Given the description of an element on the screen output the (x, y) to click on. 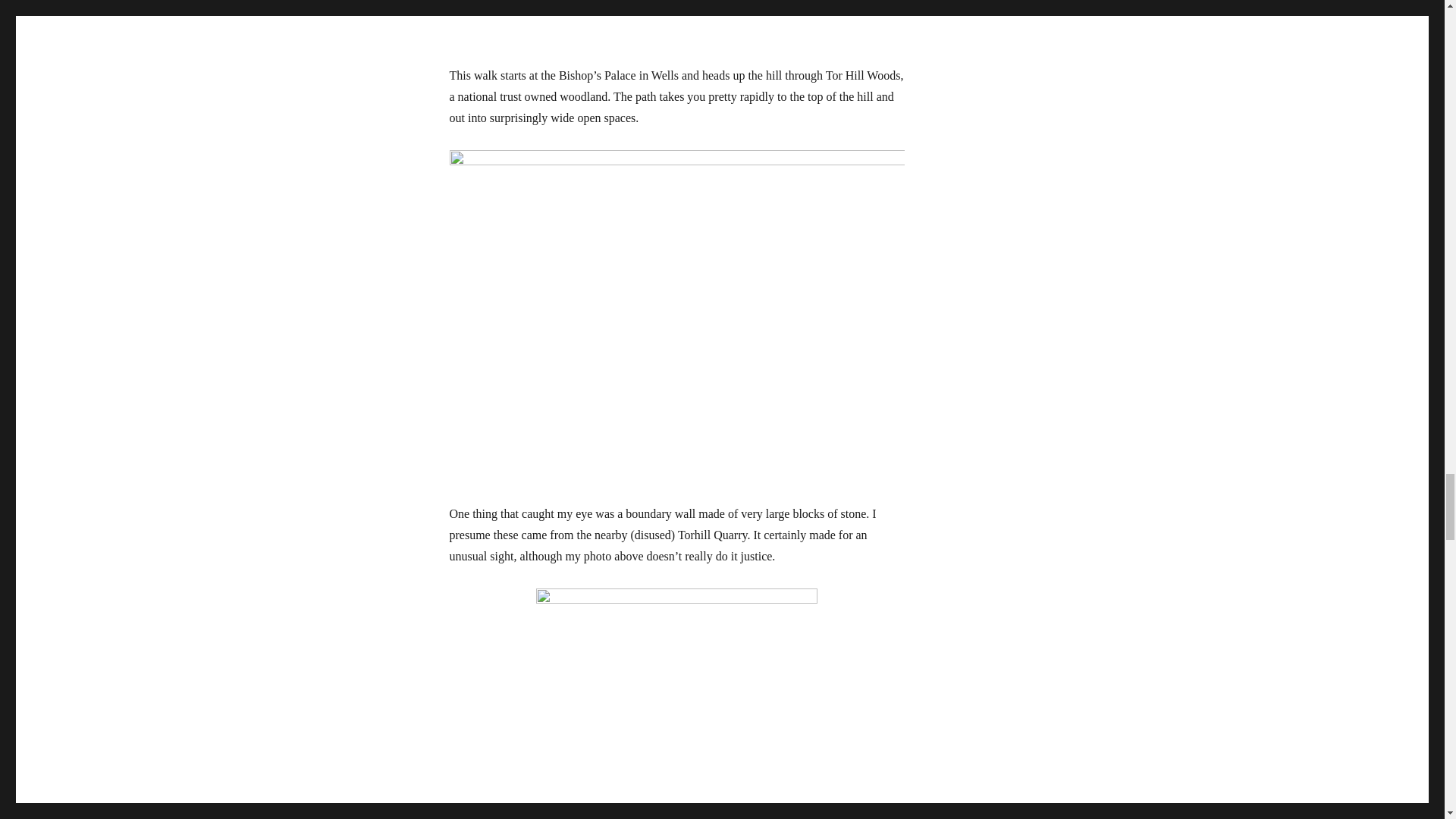
Kings Castle Wood (675, 703)
Mendip Way Circular 4 (676, 26)
